Given the description of an element on the screen output the (x, y) to click on. 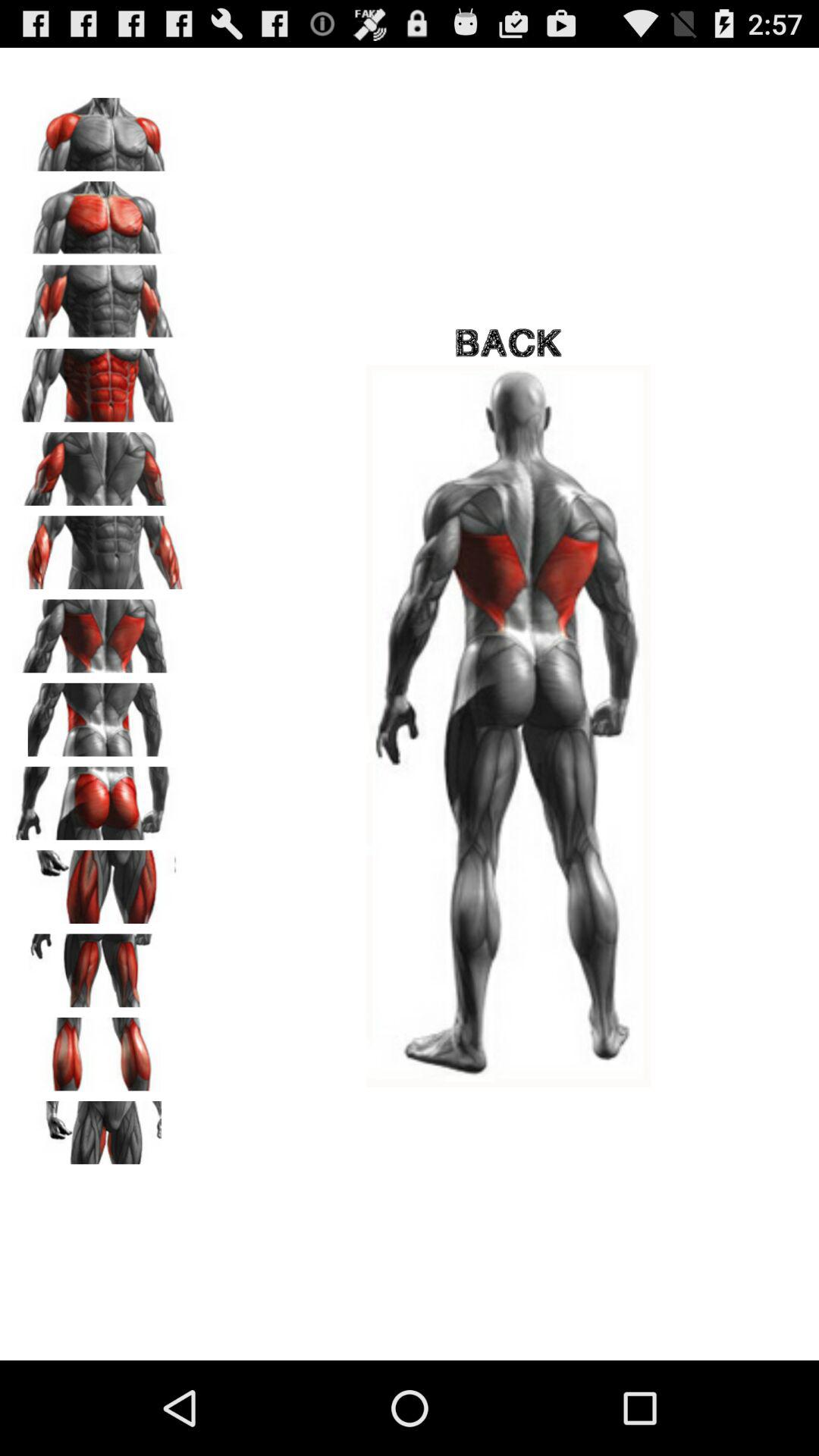
click on back icon (99, 630)
